Given the description of an element on the screen output the (x, y) to click on. 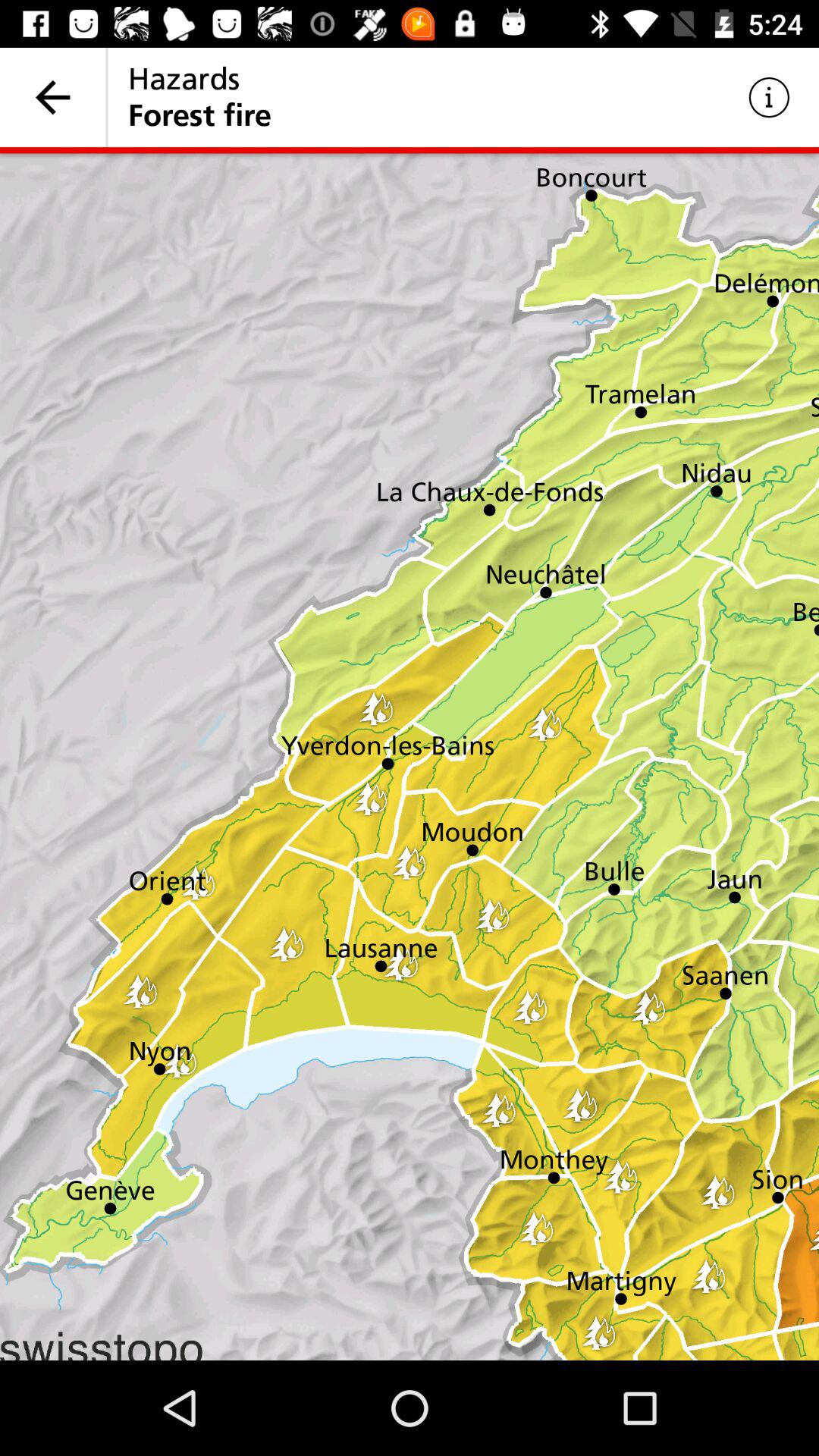
click icon next to the hazards (769, 97)
